Given the description of an element on the screen output the (x, y) to click on. 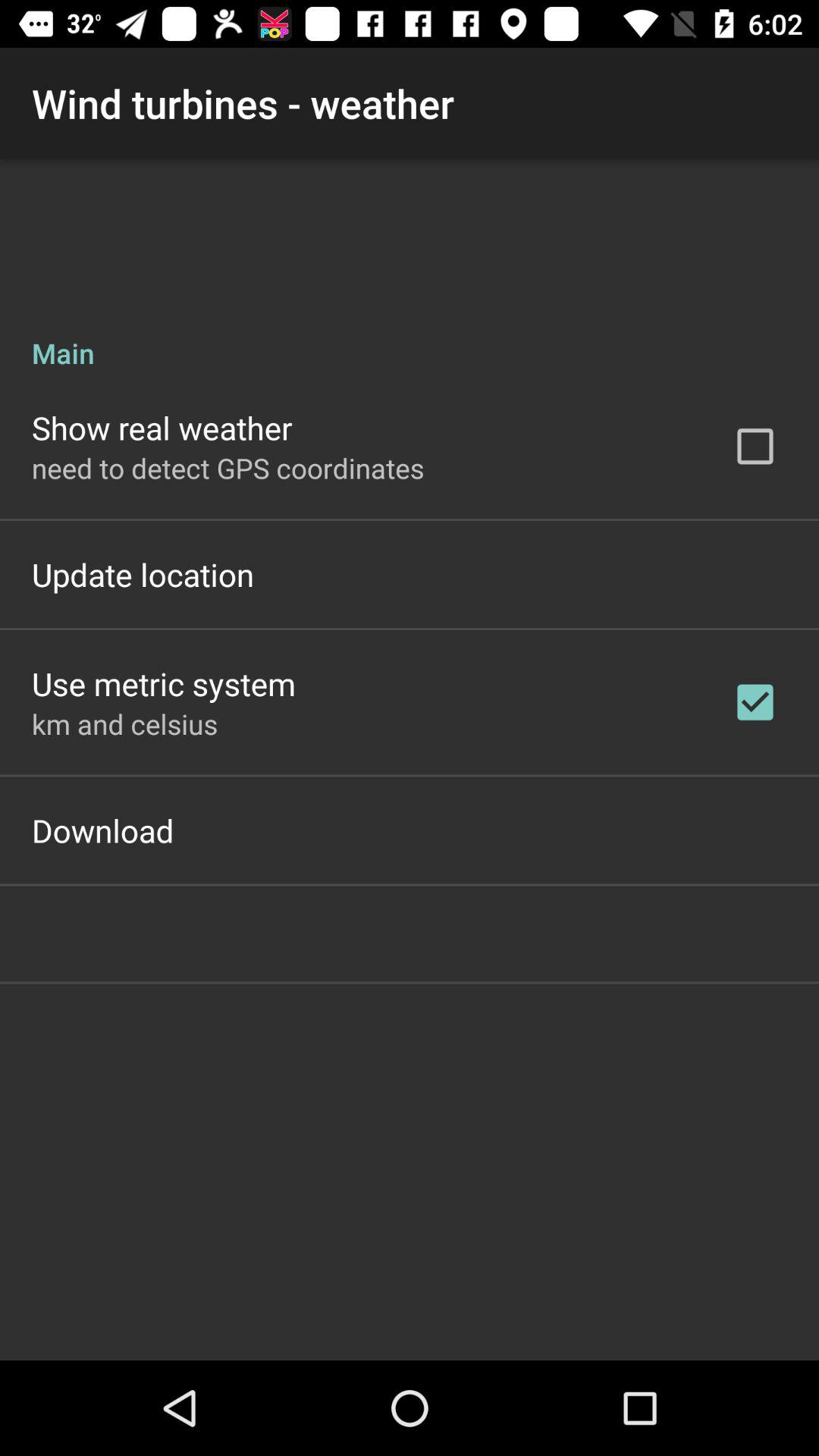
click the icon above the use metric system icon (142, 574)
